Given the description of an element on the screen output the (x, y) to click on. 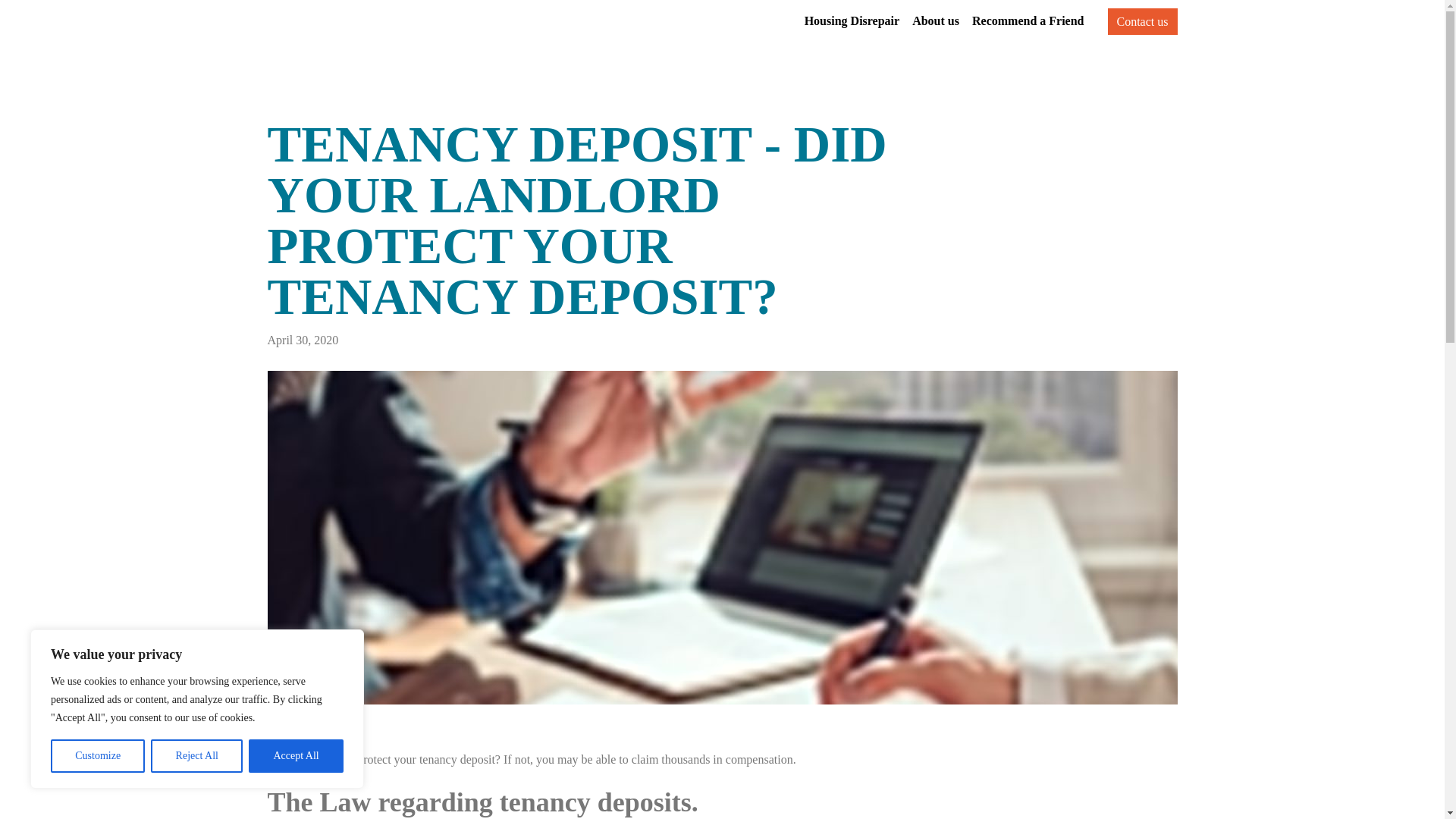
Accept All (295, 756)
Contact us (1141, 22)
Reject All (197, 756)
About us (935, 21)
Customize (97, 756)
Recommend a Friend (1028, 21)
Housing Disrepair (852, 21)
